Given the description of an element on the screen output the (x, y) to click on. 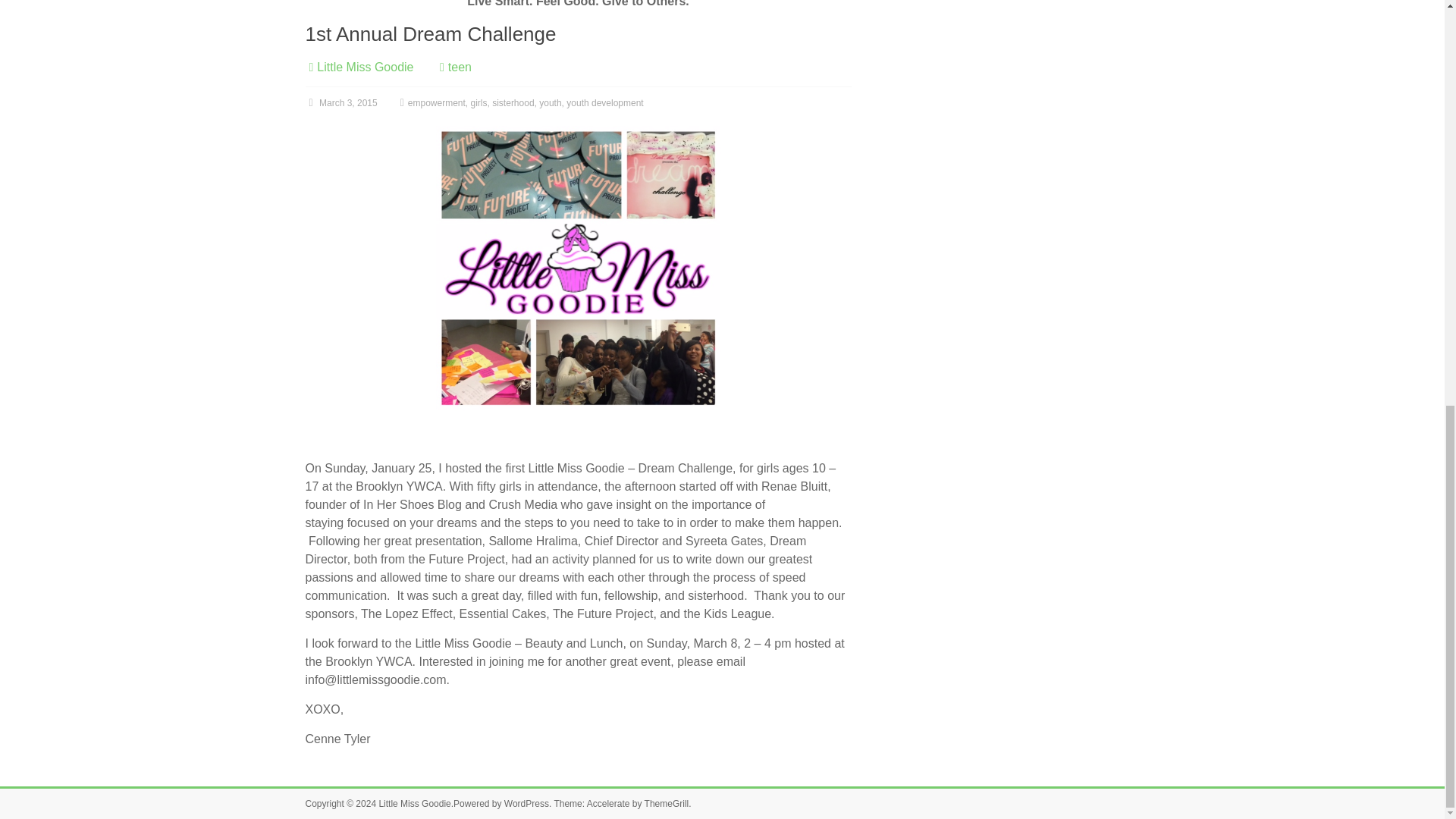
Little Miss Goodie (365, 66)
WordPress (525, 803)
WordPress (525, 803)
Little Miss Goodie (413, 803)
empowerment (436, 102)
youth development (604, 102)
Little Miss Goodie (365, 66)
March 3, 2015 (340, 102)
girls (478, 102)
sisterhood (513, 102)
Little Miss Goodie (413, 803)
youth (549, 102)
1:09 am (340, 102)
ThemeGrill (666, 803)
1st Annual Dream Challenge (430, 33)
